Given the description of an element on the screen output the (x, y) to click on. 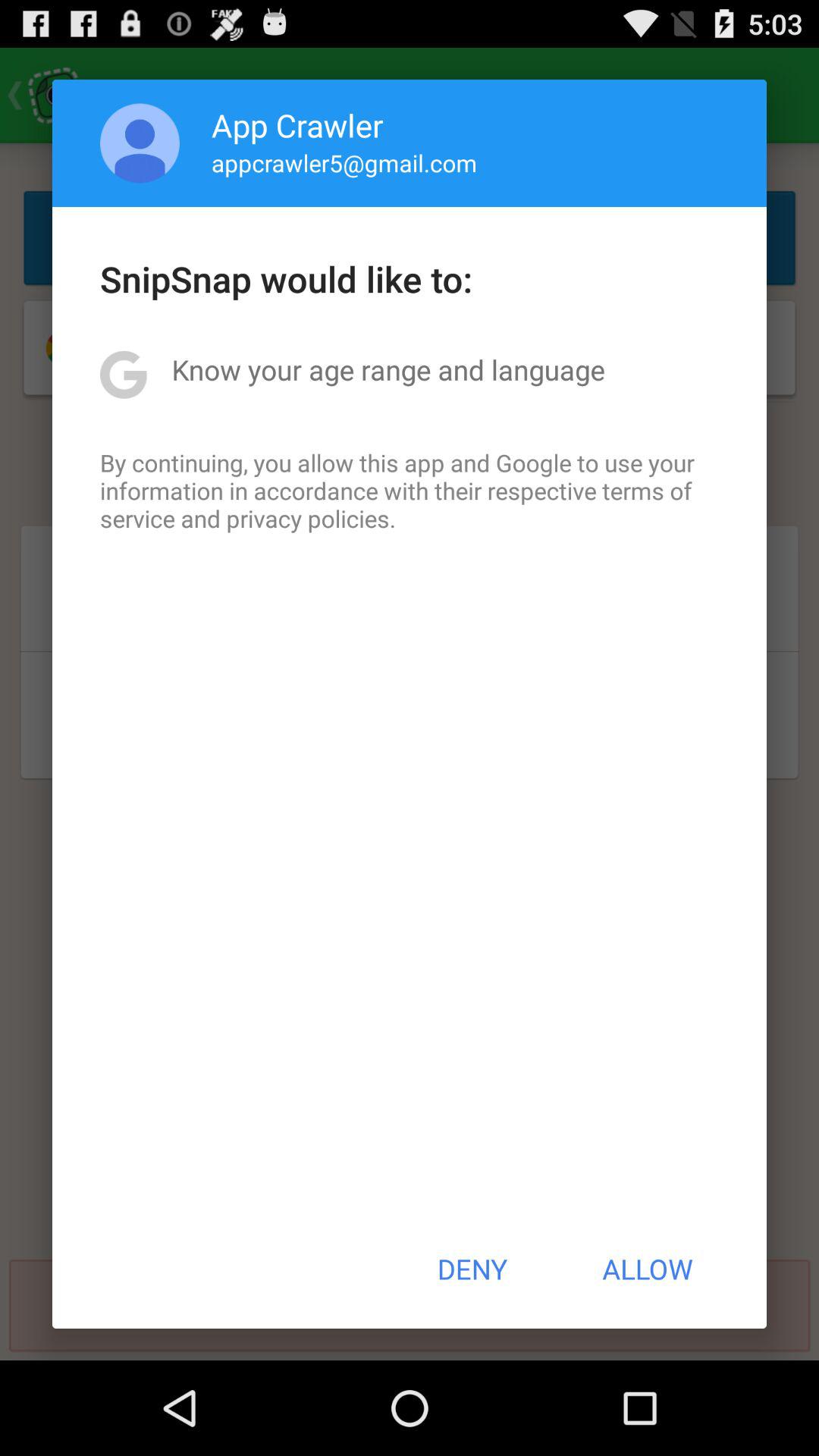
launch item below the by continuing you item (471, 1268)
